Given the description of an element on the screen output the (x, y) to click on. 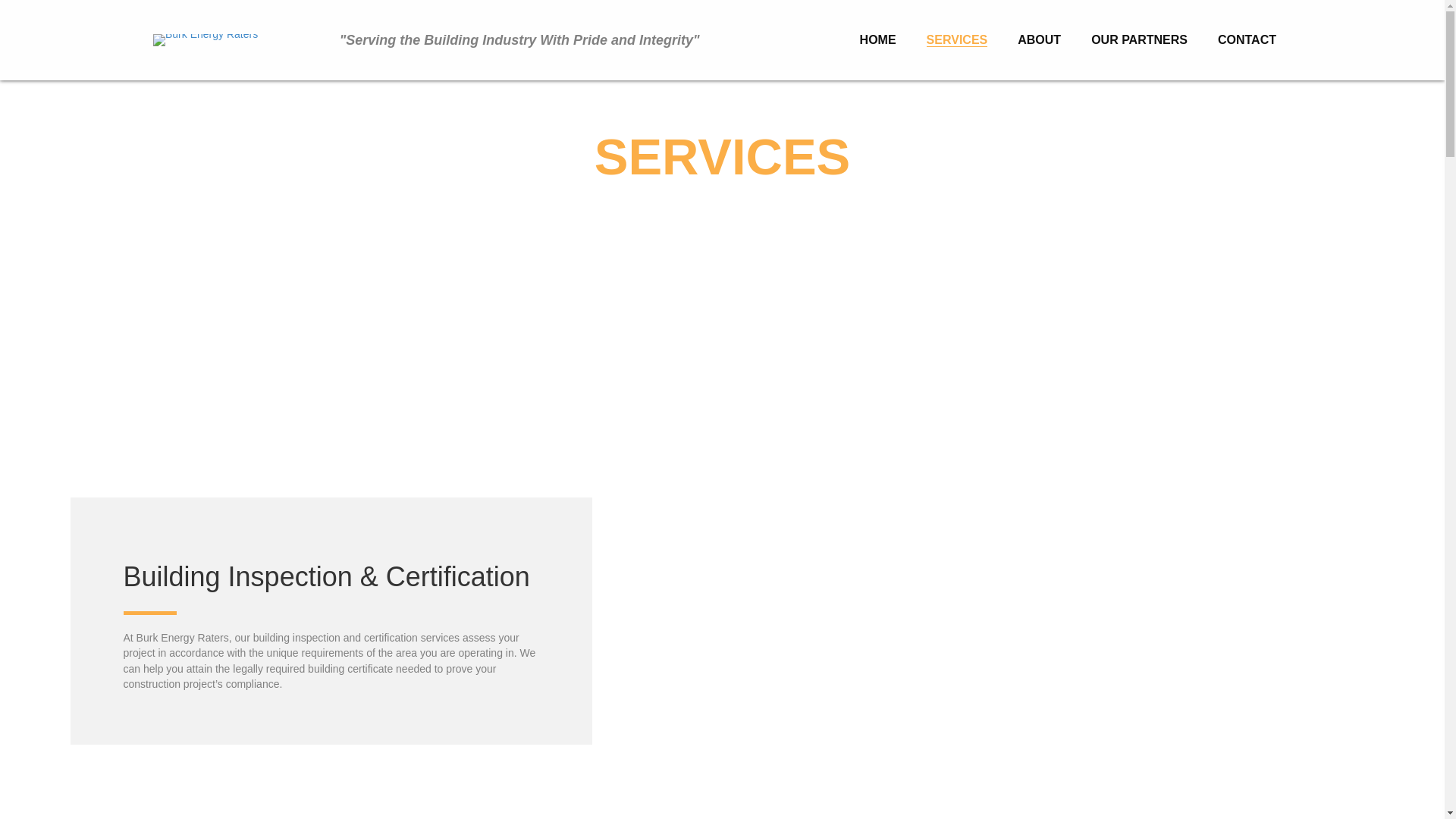
HOME (878, 40)
Burk Energy Raters (204, 39)
ABOUT (1039, 40)
SERVICES (957, 40)
CONTACT (1246, 40)
OUR PARTNERS (1139, 40)
